Given the description of an element on the screen output the (x, y) to click on. 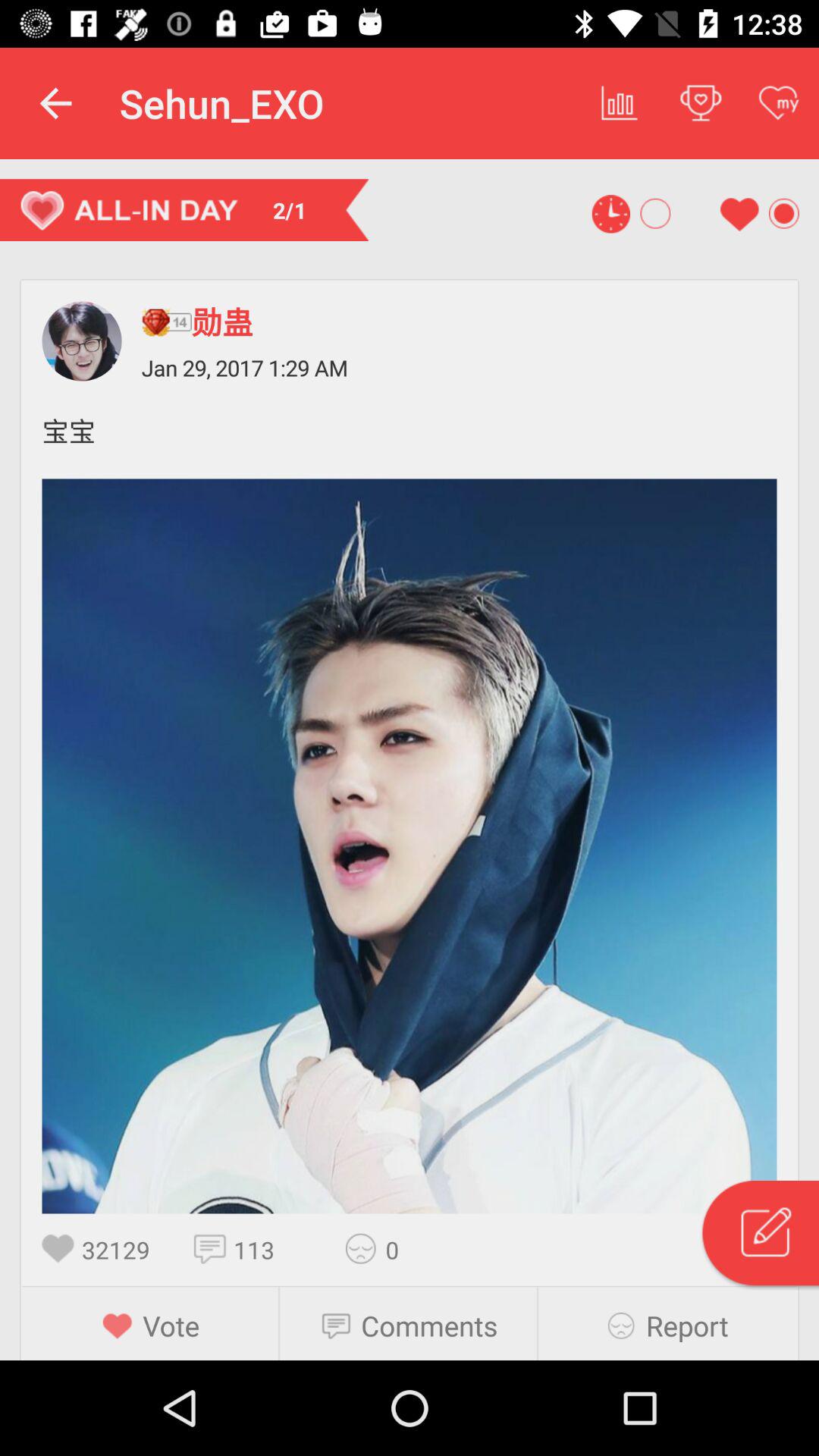
jump until the comments item (429, 1325)
